Given the description of an element on the screen output the (x, y) to click on. 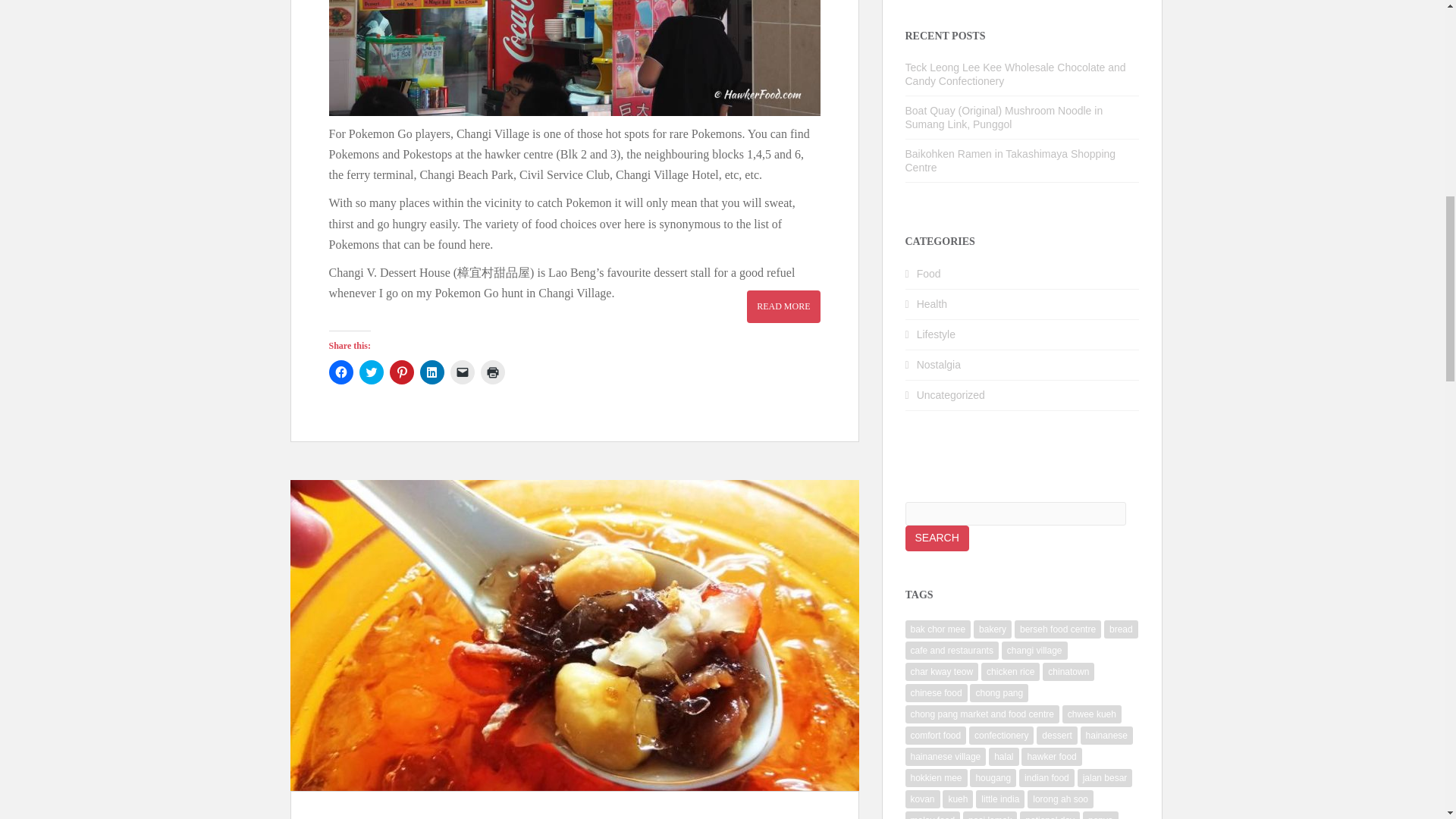
Click to print (492, 372)
Click to share on Facebook (341, 372)
Click to share on LinkedIn (432, 372)
Search (937, 538)
READ MORE (782, 306)
Click to share on Pinterest (401, 372)
Click to email a link to a friend (461, 372)
Click to share on Twitter (371, 372)
